Given the description of an element on the screen output the (x, y) to click on. 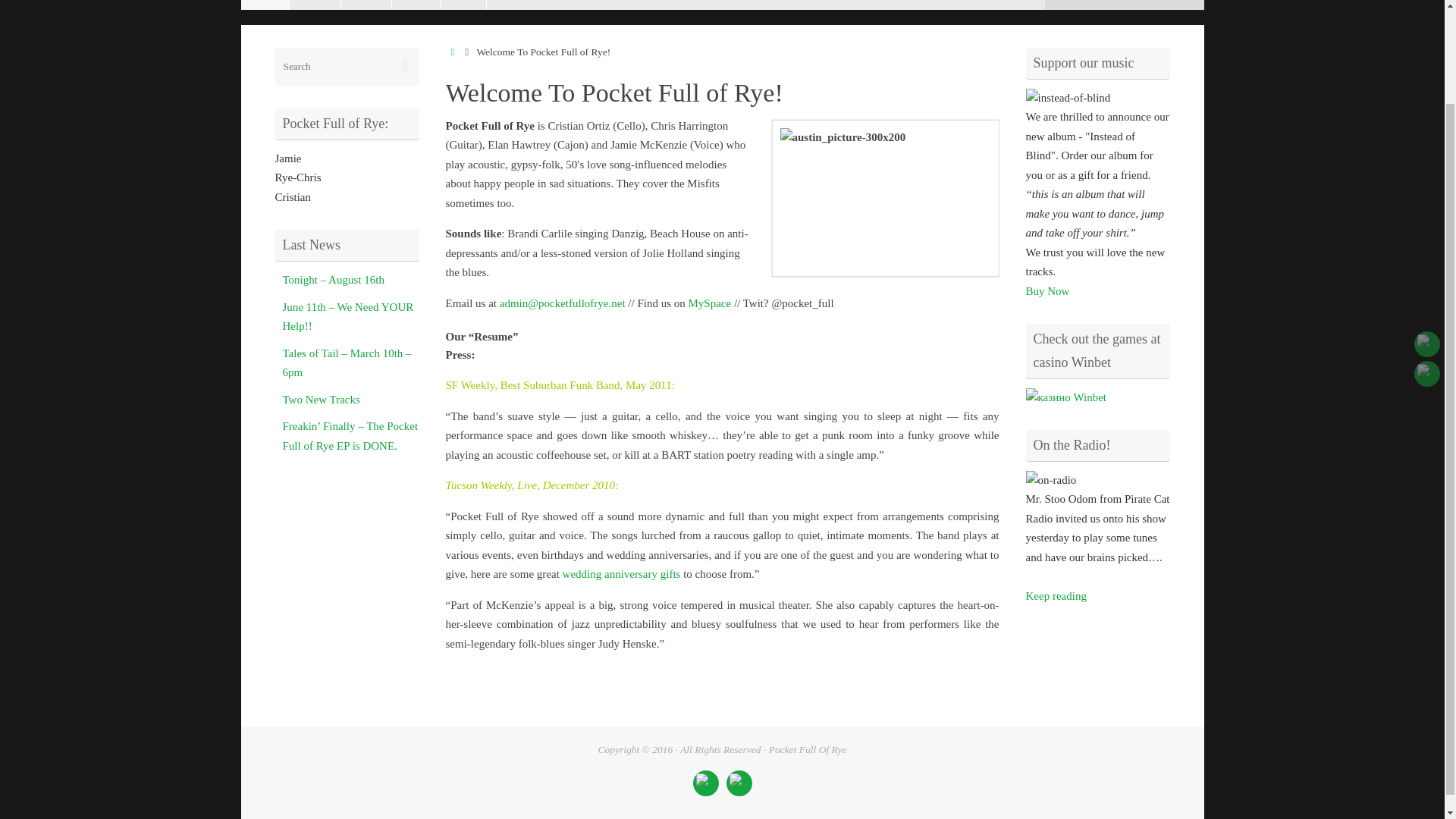
AboutMe (1426, 263)
MySpace (710, 302)
Home (264, 4)
Buy Now (1046, 291)
YouTube (1426, 234)
Music (415, 4)
AboutMe (739, 783)
News (462, 4)
Two New Tracks (320, 399)
wedding anniversary gifts (621, 573)
